Given the description of an element on the screen output the (x, y) to click on. 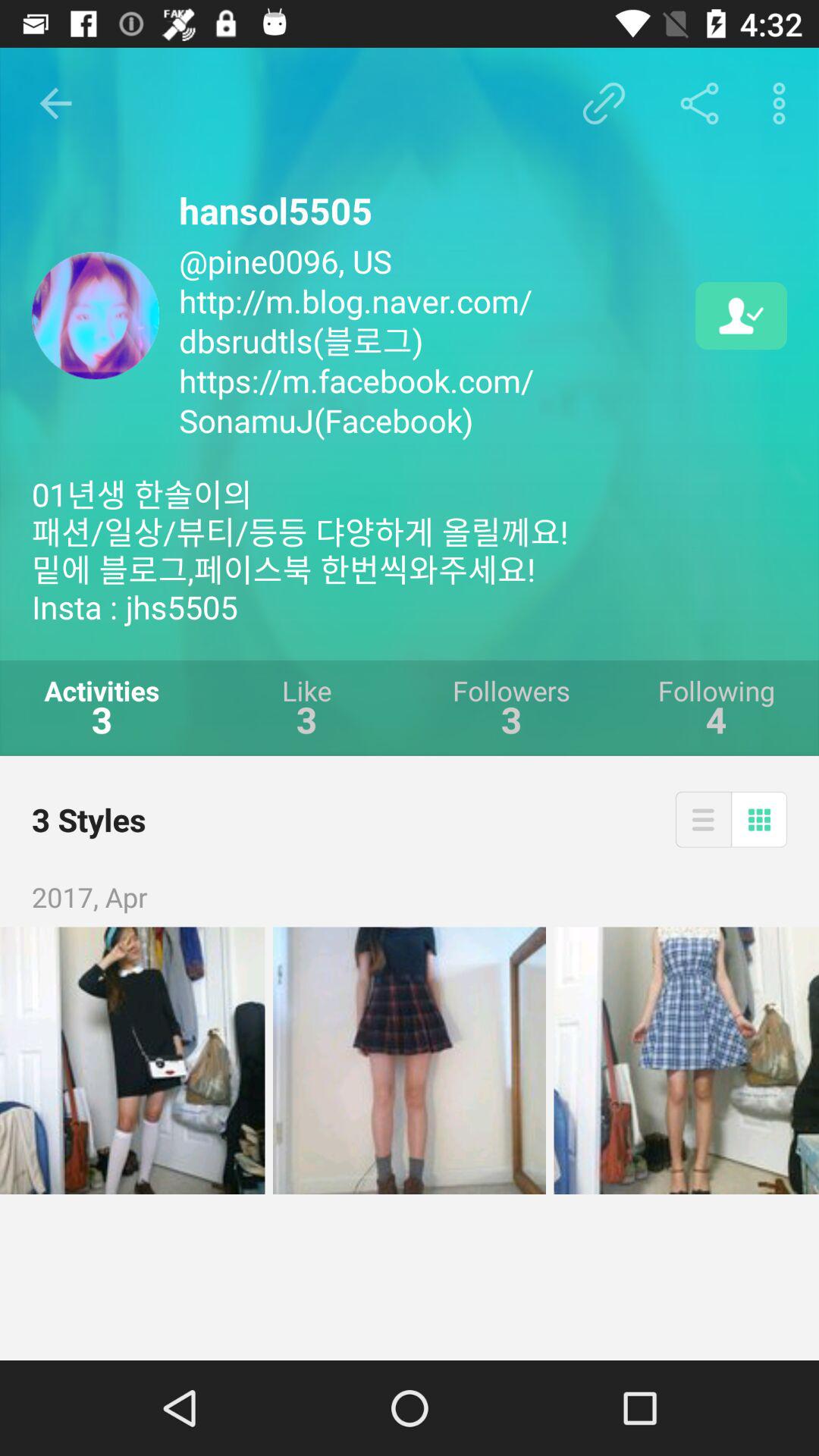
press the icon next to the pine0096 us http icon (741, 315)
